Given the description of an element on the screen output the (x, y) to click on. 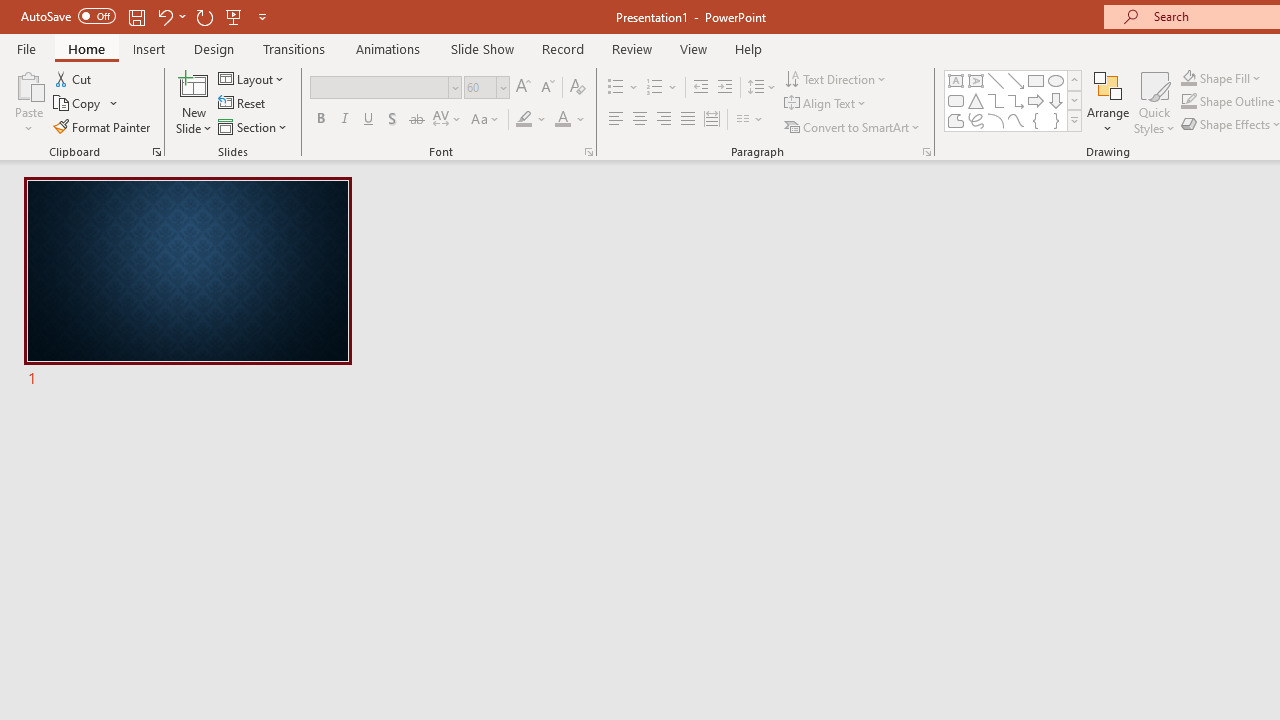
Distributed (712, 119)
Align Text (826, 103)
Line Arrow (1016, 80)
Shadow (392, 119)
Connector: Elbow (995, 100)
Rectangle: Rounded Corners (955, 100)
